Given the description of an element on the screen output the (x, y) to click on. 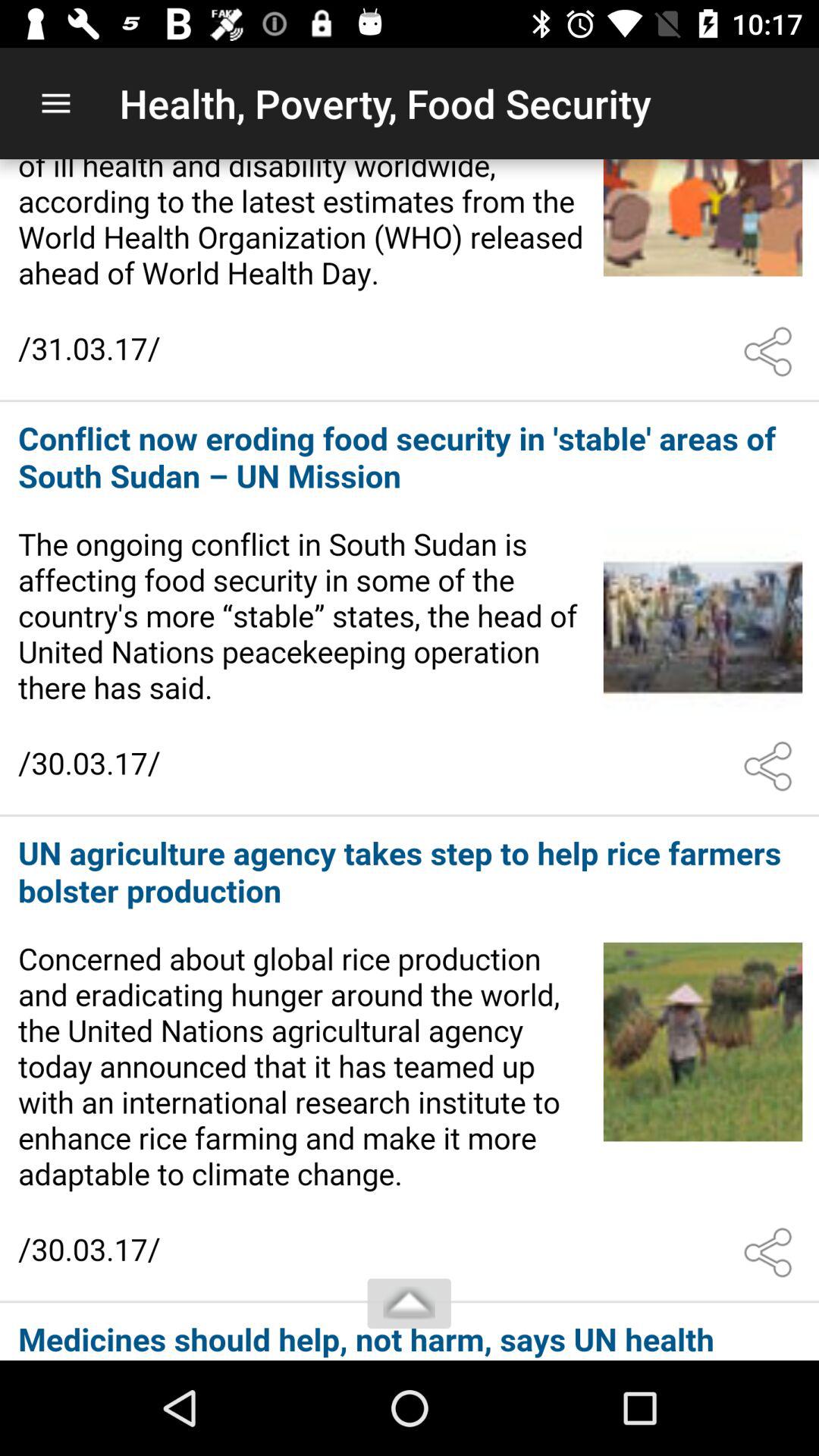
share options (771, 766)
